Given the description of an element on the screen output the (x, y) to click on. 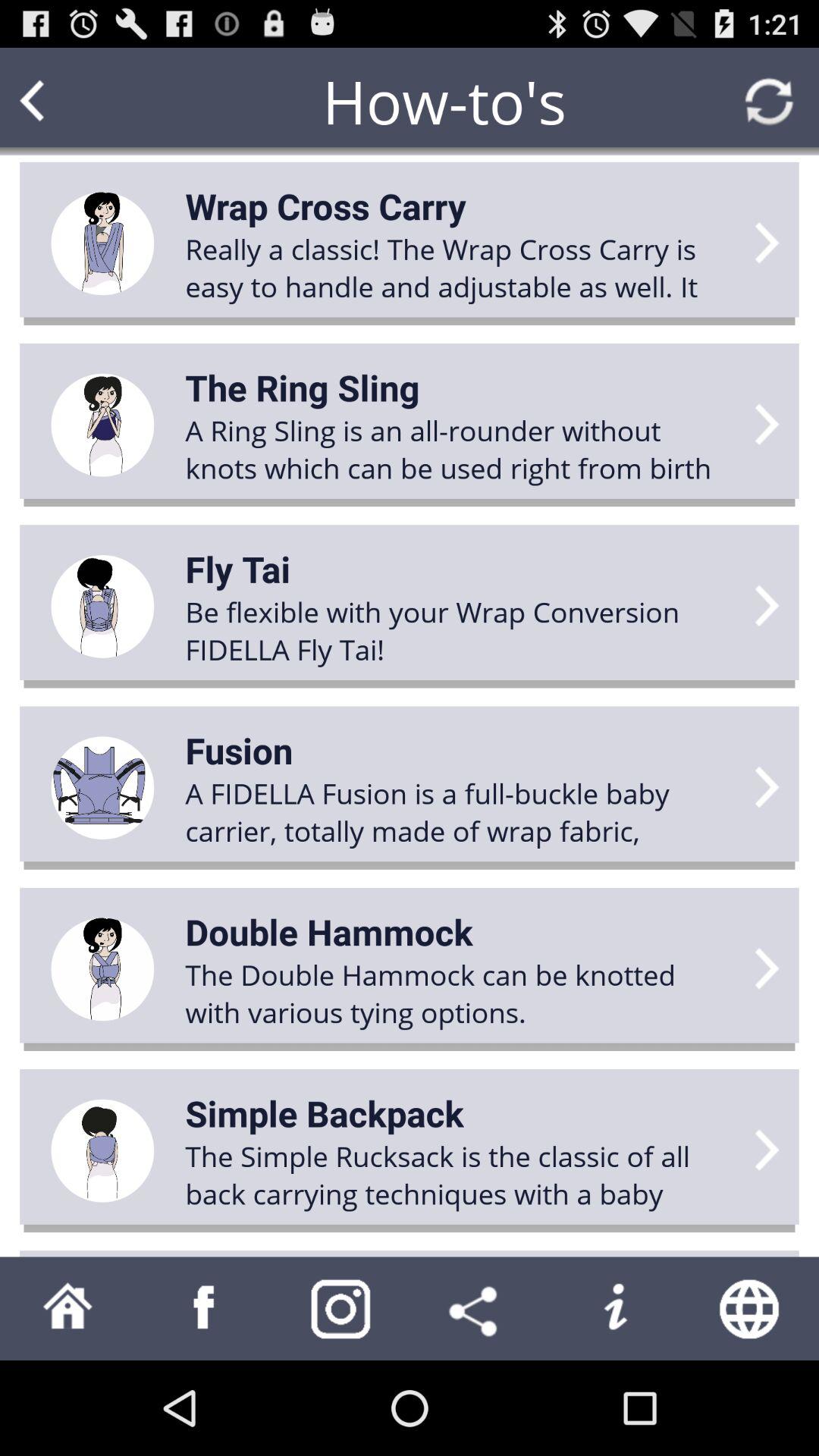
select app next to how-to's (61, 101)
